Given the description of an element on the screen output the (x, y) to click on. 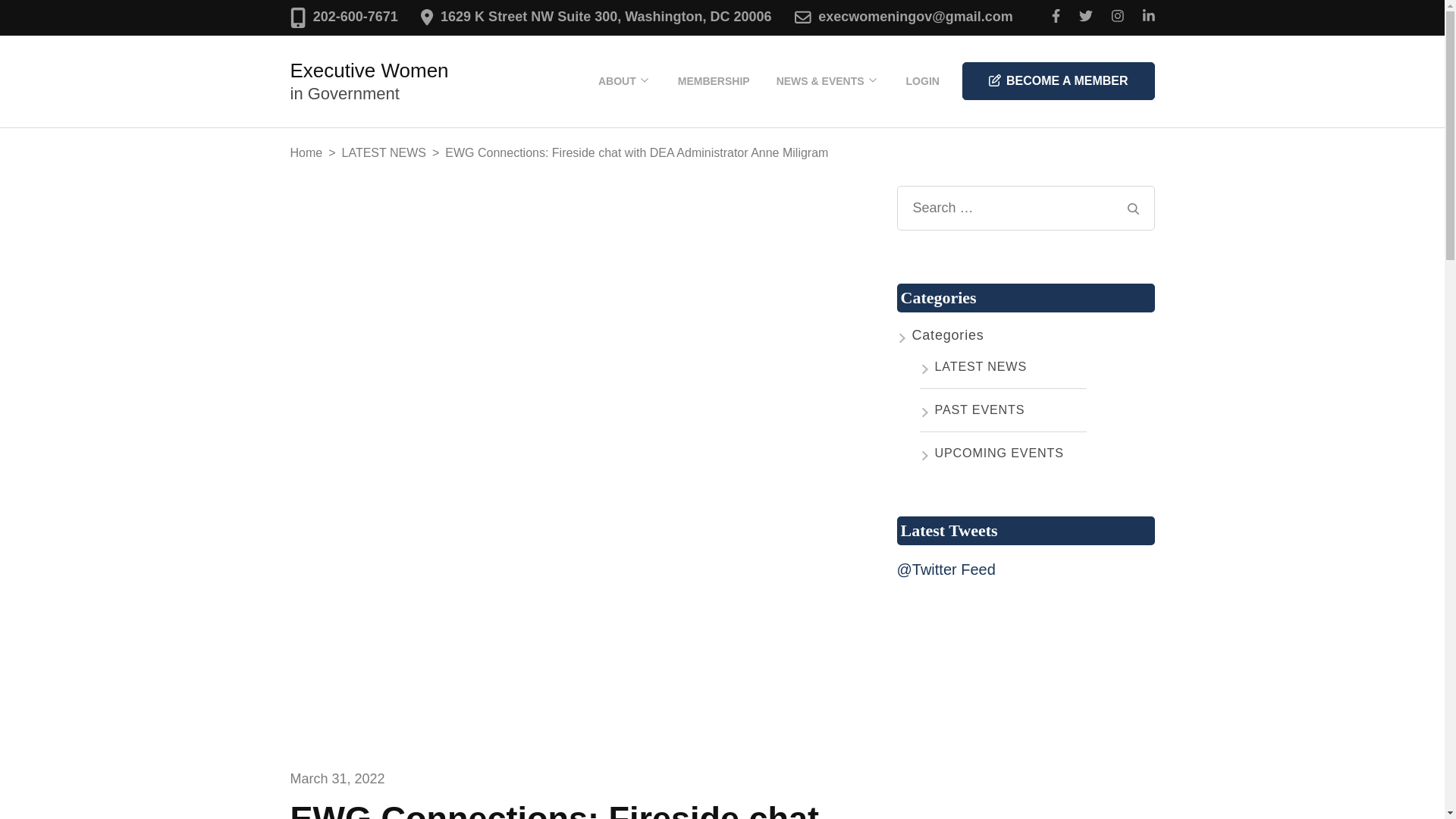
202-600-7671 (355, 16)
Search (1132, 208)
Executive Women (368, 69)
ABOUT (617, 80)
Search (1132, 208)
BECOME A MEMBER (1058, 80)
